Given the description of an element on the screen output the (x, y) to click on. 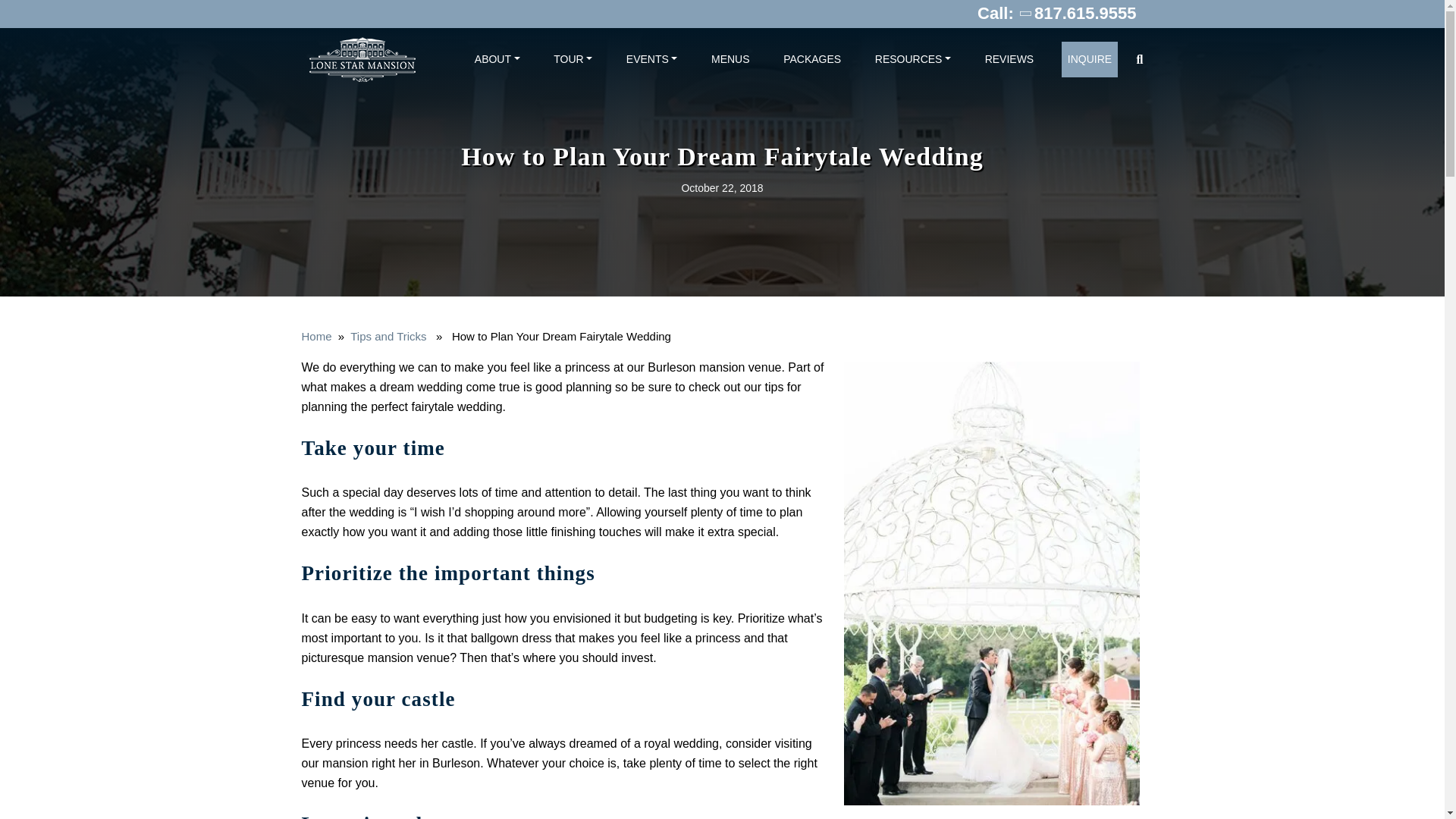
INQUIRE (1089, 58)
MENUS (729, 58)
Events (652, 58)
About (496, 58)
TOUR (572, 58)
Tips and Tricks (388, 336)
Resources (912, 58)
REVIEWS (1009, 58)
Home (316, 336)
ABOUT (496, 58)
